Given the description of an element on the screen output the (x, y) to click on. 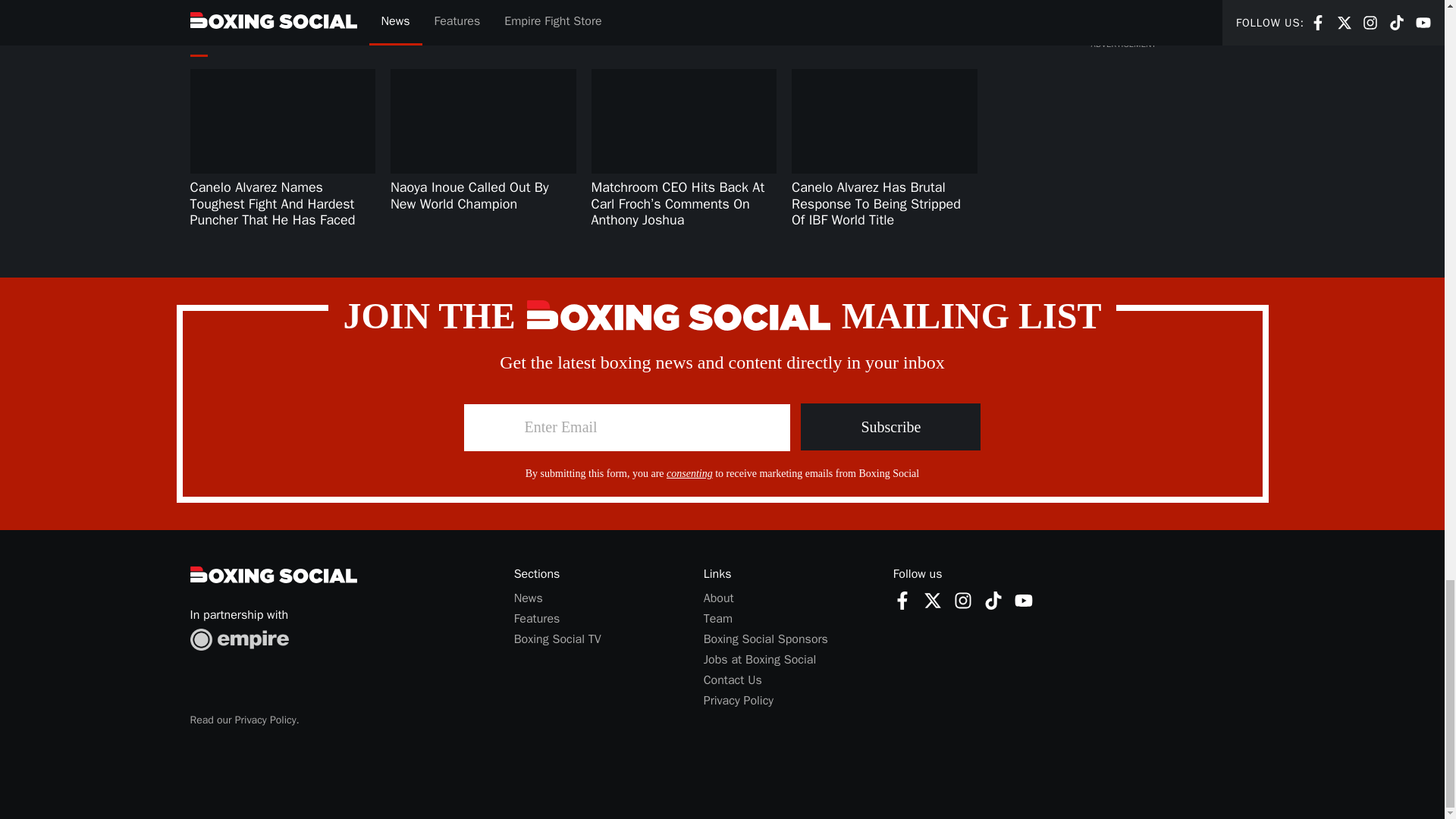
Boxing Social TV (557, 639)
Subscribe (889, 426)
Jobs at Boxing Social (759, 659)
YouTube (1023, 600)
News (528, 597)
Features (536, 618)
Privacy Policy (738, 700)
Facebook (902, 600)
Naoya Inoue Called Out By New World Champion (469, 195)
